Given the description of an element on the screen output the (x, y) to click on. 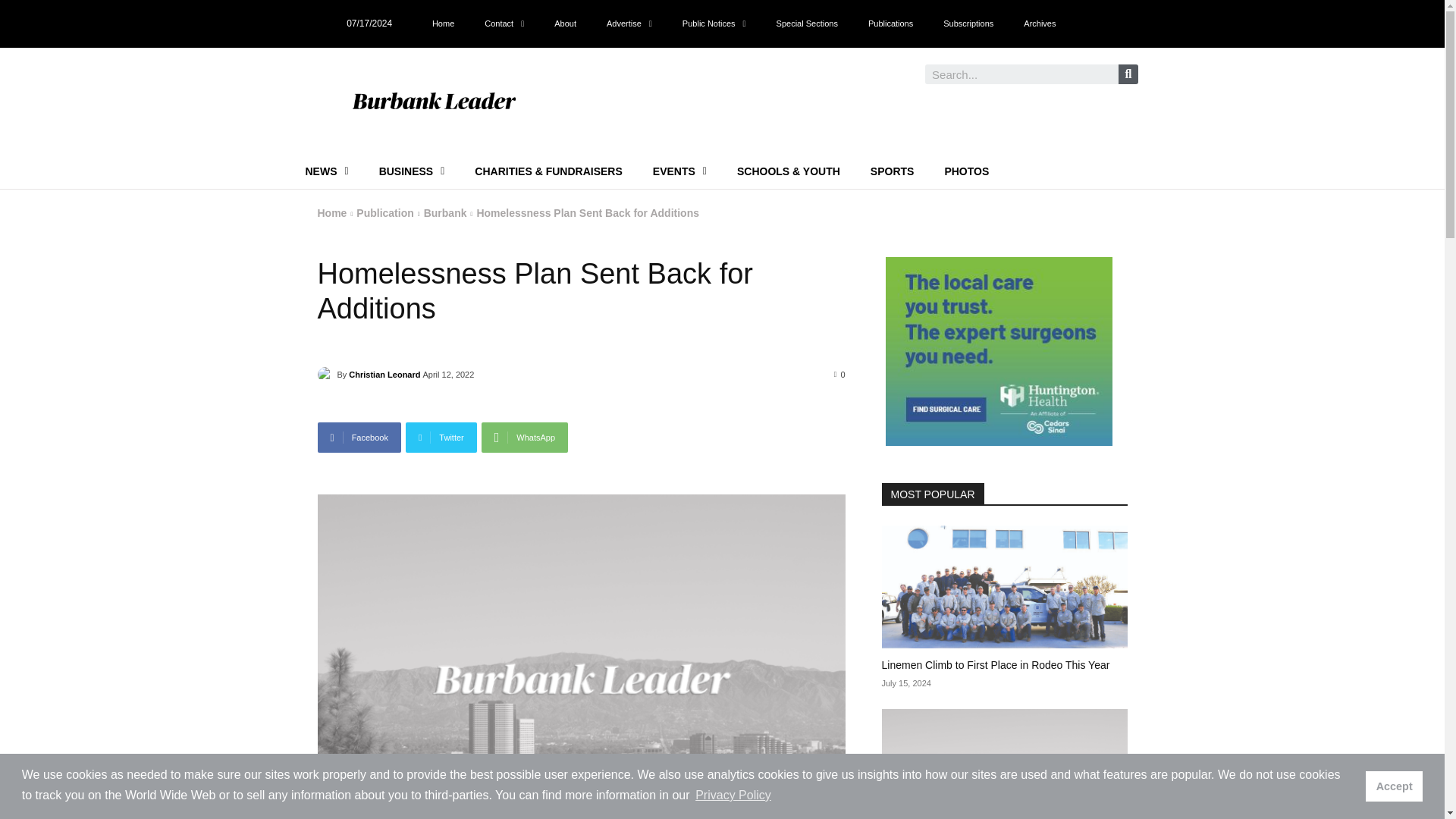
Advertise (628, 23)
WhatsApp (524, 437)
Publications (890, 23)
Contact (503, 23)
Home (442, 23)
Christian Leonard (326, 374)
Subscriptions (968, 23)
Search (1128, 74)
Archives (1039, 23)
Public Notices (713, 23)
Search (1021, 74)
Facebook (358, 437)
View all posts in Burbank (445, 213)
NEWS (325, 171)
Twitter (441, 437)
